Given the description of an element on the screen output the (x, y) to click on. 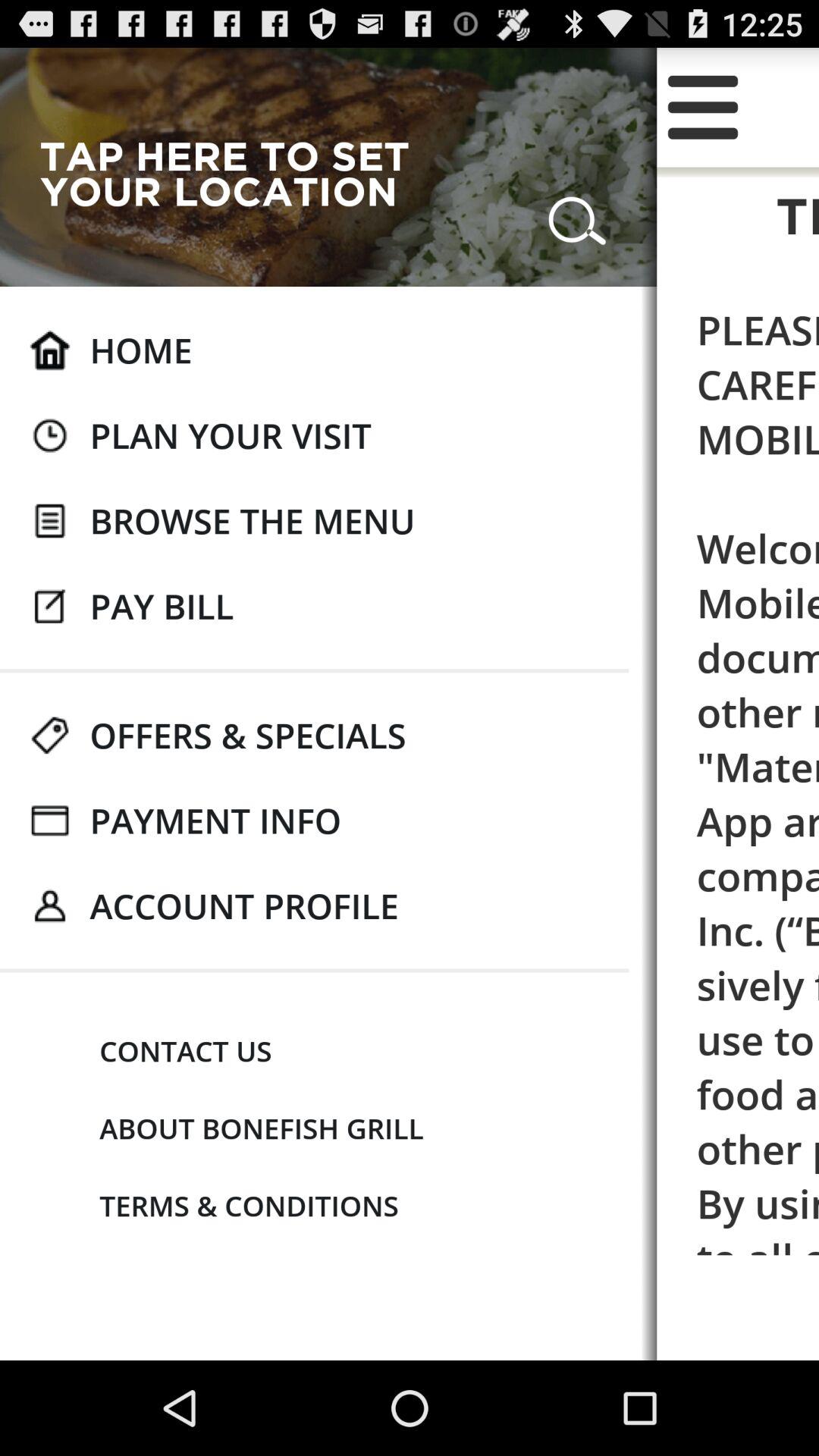
choose the pay bill app (161, 606)
